Given the description of an element on the screen output the (x, y) to click on. 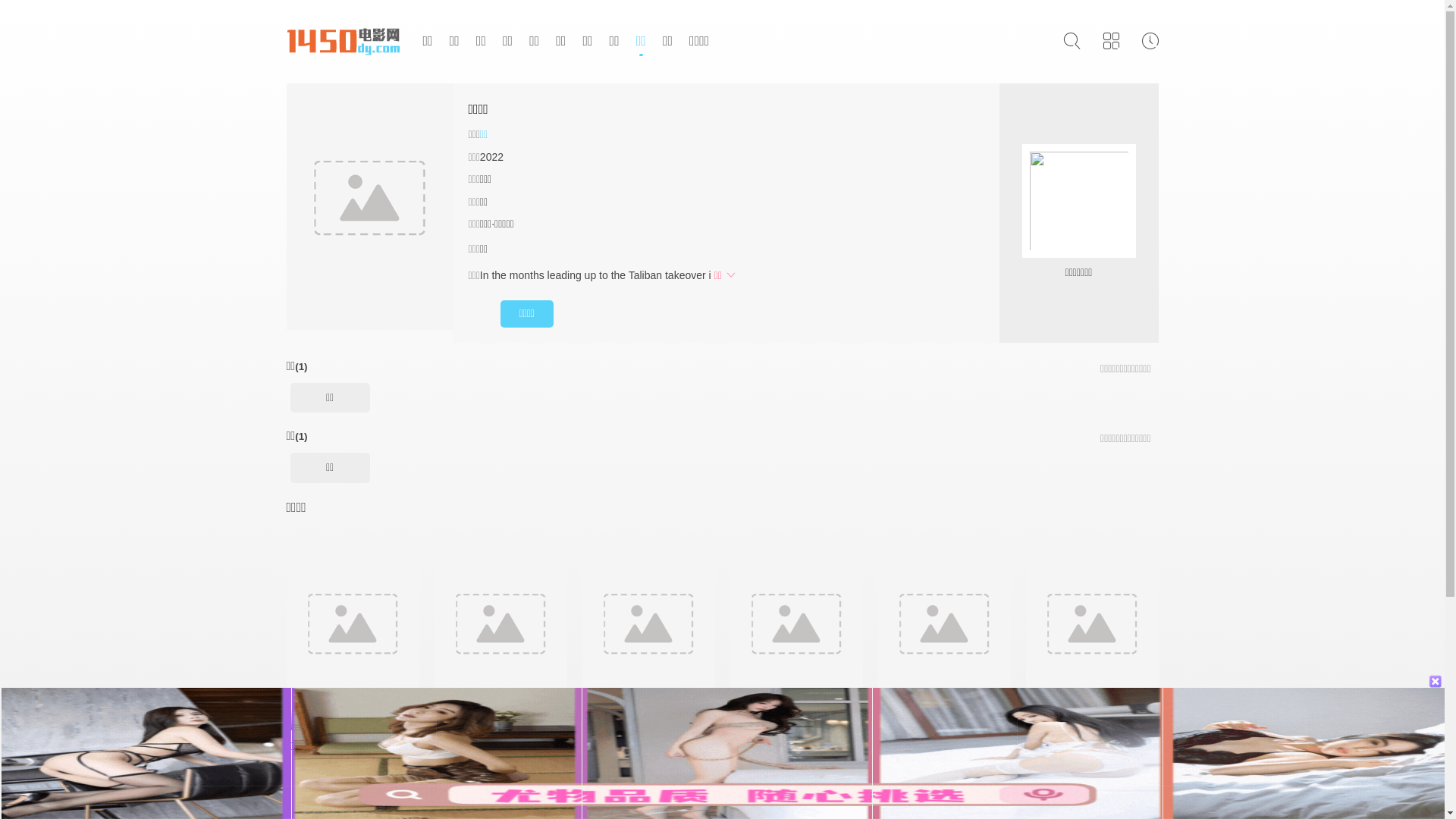
2022 Element type: text (491, 156)
